Given the description of an element on the screen output the (x, y) to click on. 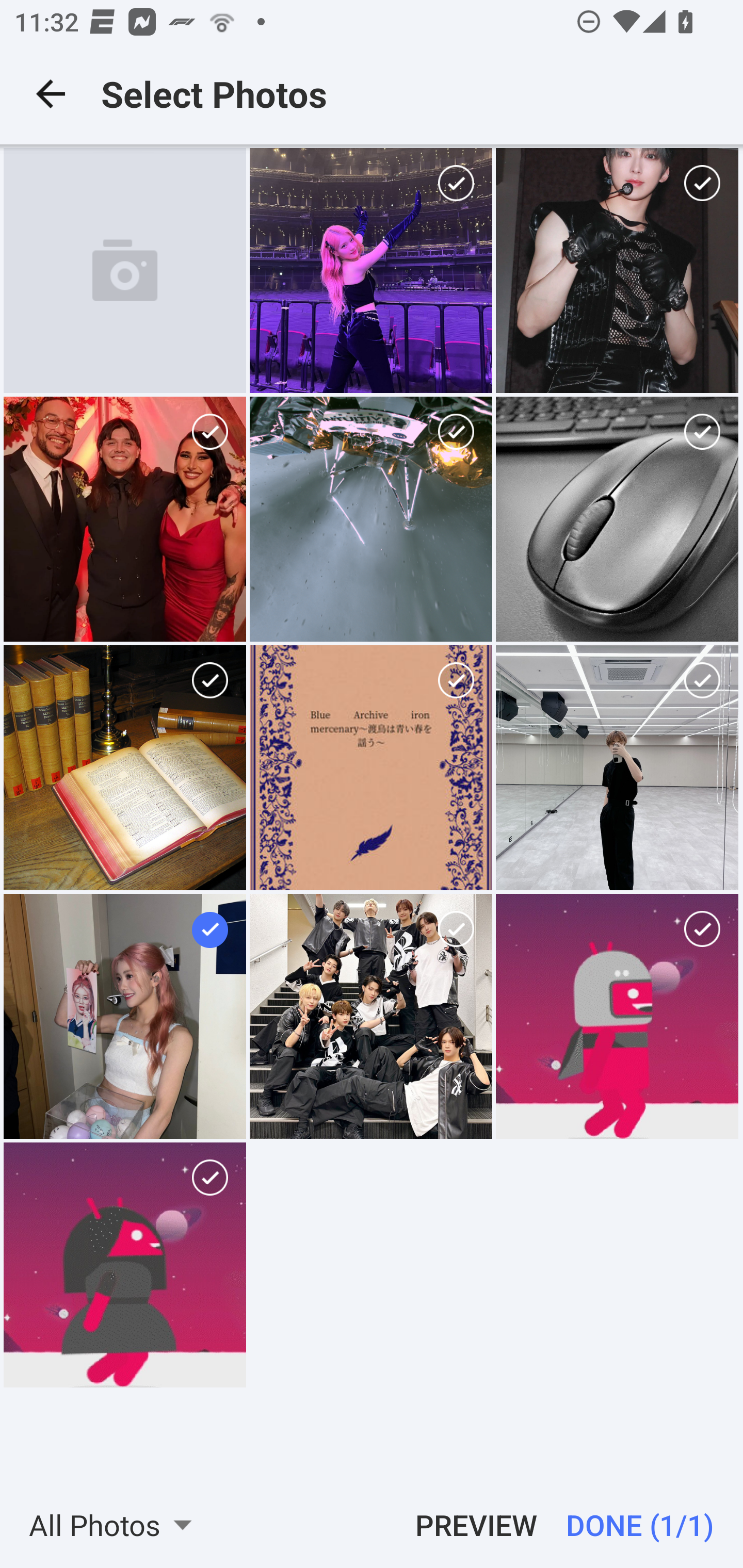
All Photos (116, 1524)
PREVIEW (468, 1524)
DONE (1/1) (647, 1524)
